Given the description of an element on the screen output the (x, y) to click on. 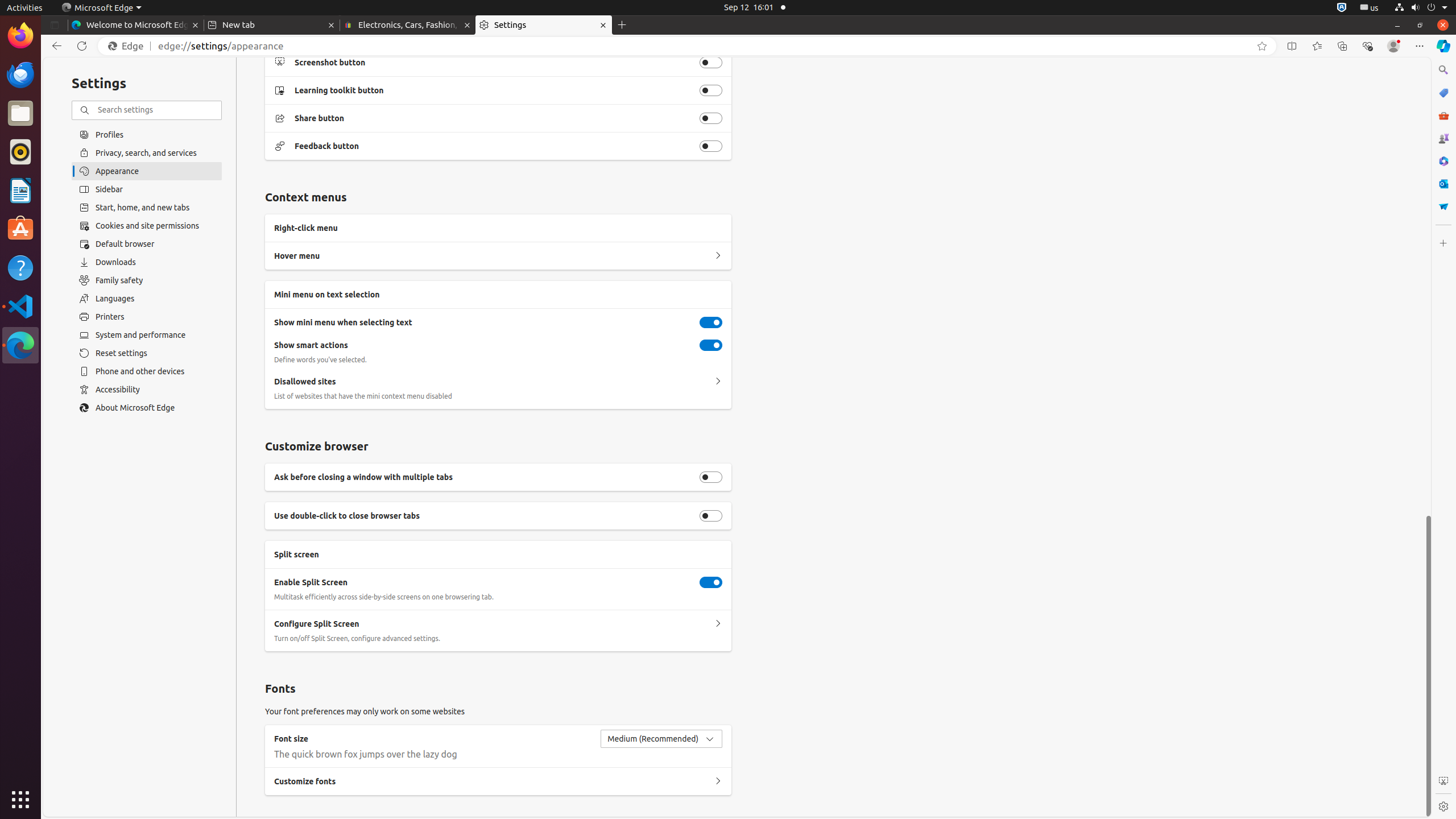
Refresh Element type: push-button (81, 45)
Profile 1 Profile, Please sign in Element type: push-button (1392, 46)
Languages Element type: tree-item (146, 298)
Rhythmbox Element type: push-button (20, 151)
Privacy, search, and services Element type: tree-item (146, 152)
